Given the description of an element on the screen output the (x, y) to click on. 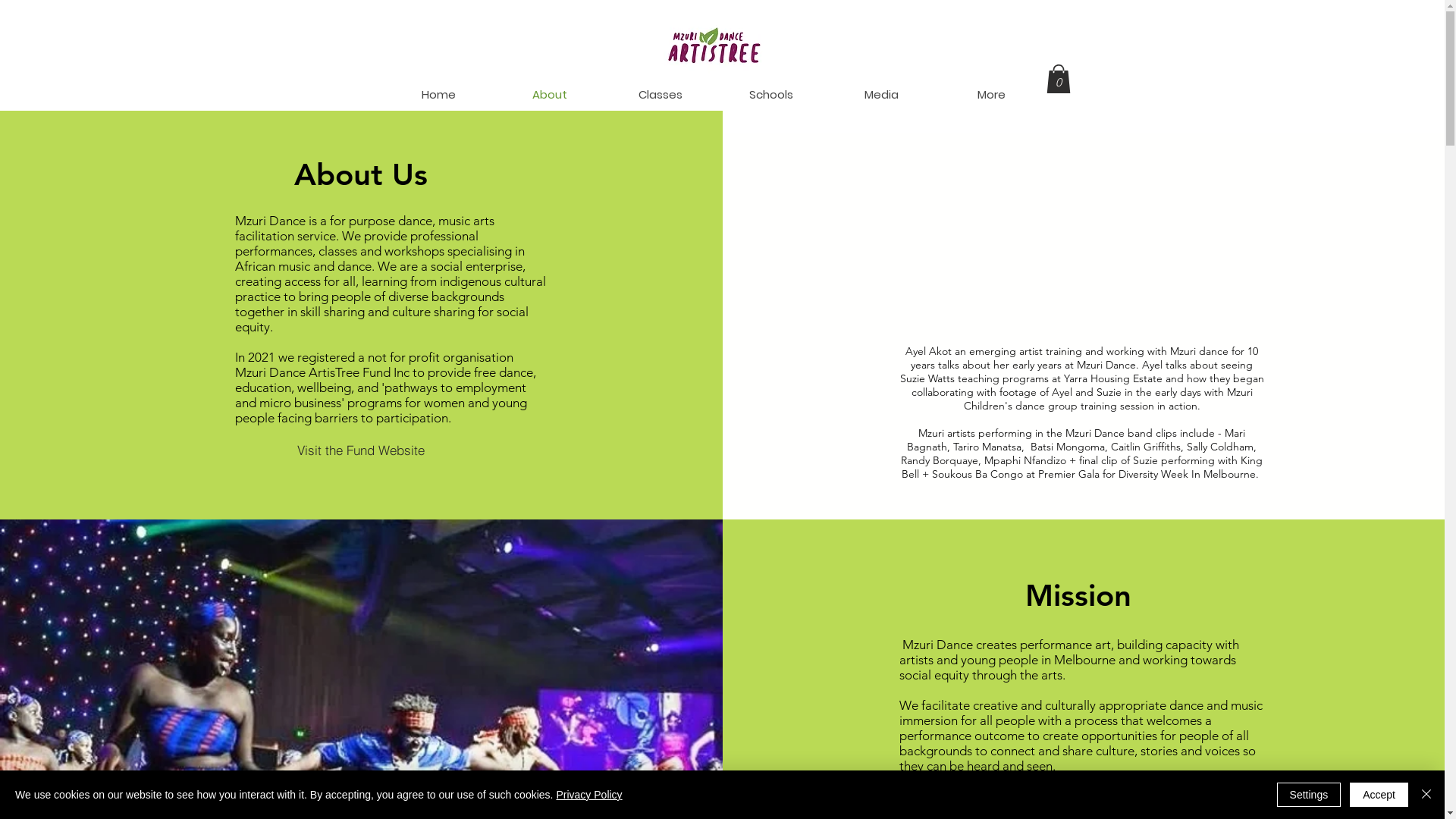
0 Element type: text (1058, 78)
Schools Element type: text (770, 94)
Media Element type: text (881, 94)
Home Element type: text (438, 94)
Accept Element type: text (1378, 794)
Settings Element type: text (1309, 794)
About Element type: text (549, 94)
Classes Element type: text (660, 94)
Mzuri Dance logo Element type: hover (714, 44)
Visit the Fund Website Element type: text (360, 449)
Privacy Policy Element type: text (588, 794)
